Given the description of an element on the screen output the (x, y) to click on. 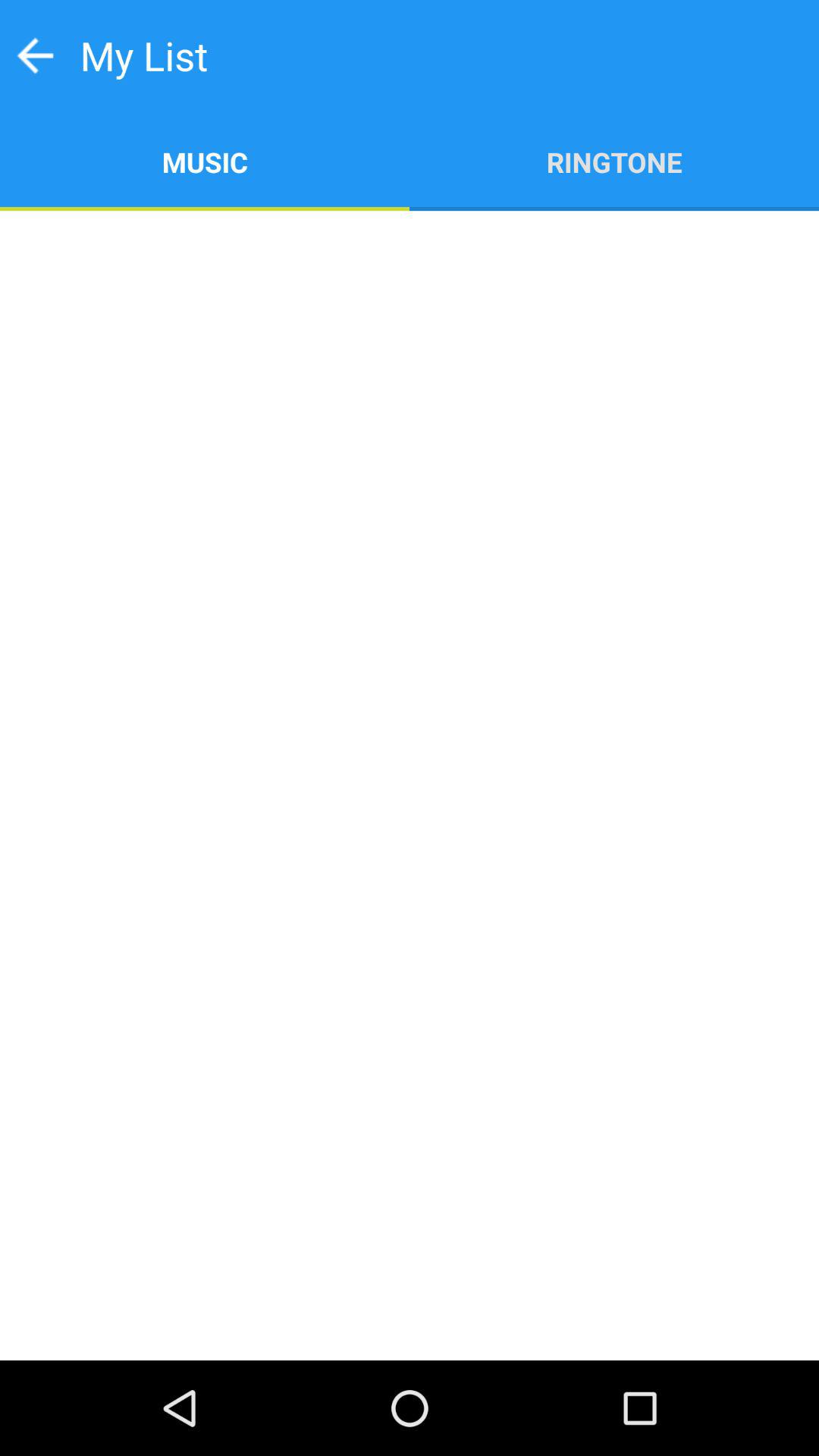
flip until the music icon (204, 161)
